Given the description of an element on the screen output the (x, y) to click on. 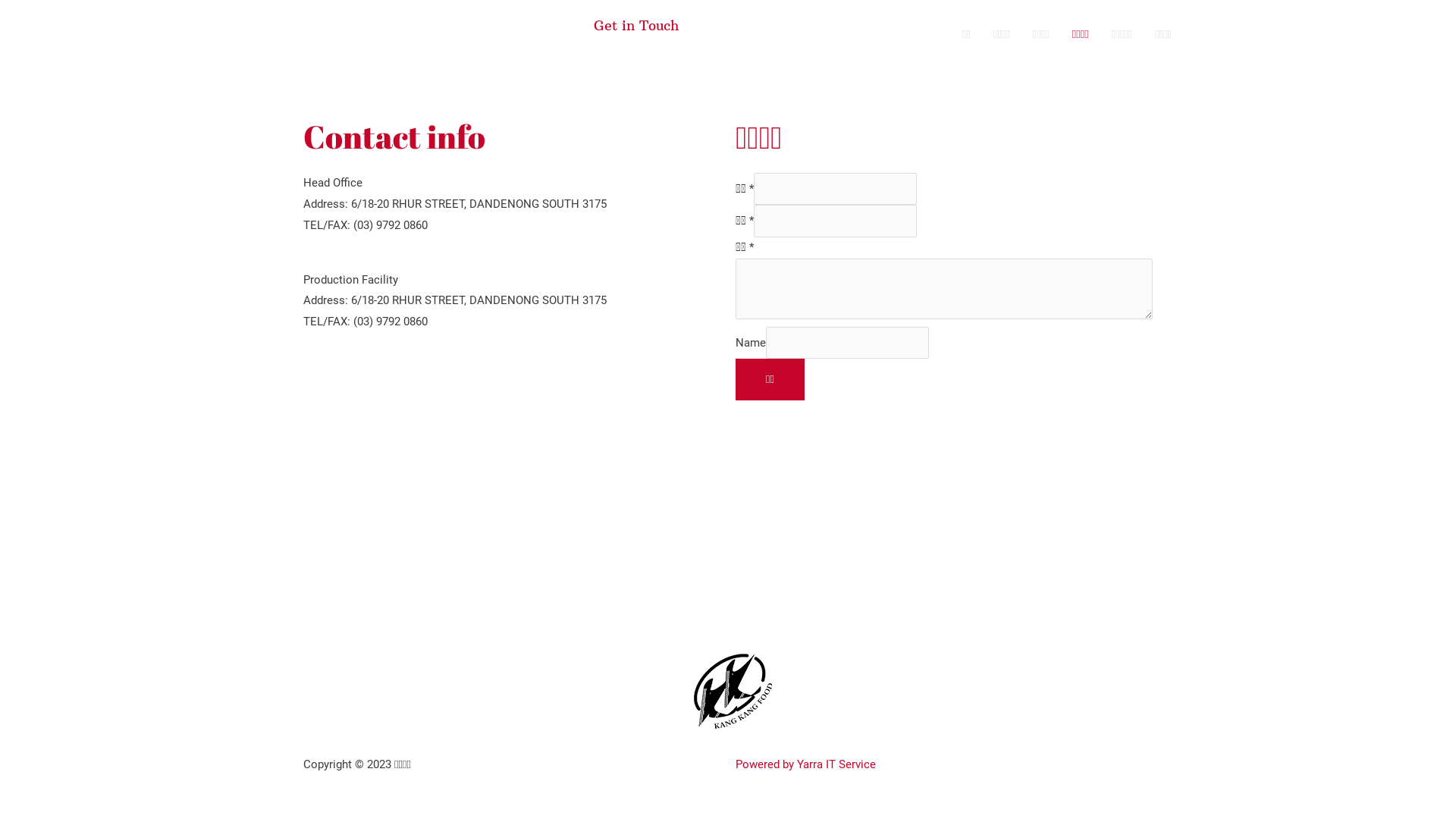
6/18-20 RHUR STREET, DANDENONG SOUTH 3175 Element type: hover (727, 529)
Powered by Yarra IT Service Element type: text (805, 764)
